Given the description of an element on the screen output the (x, y) to click on. 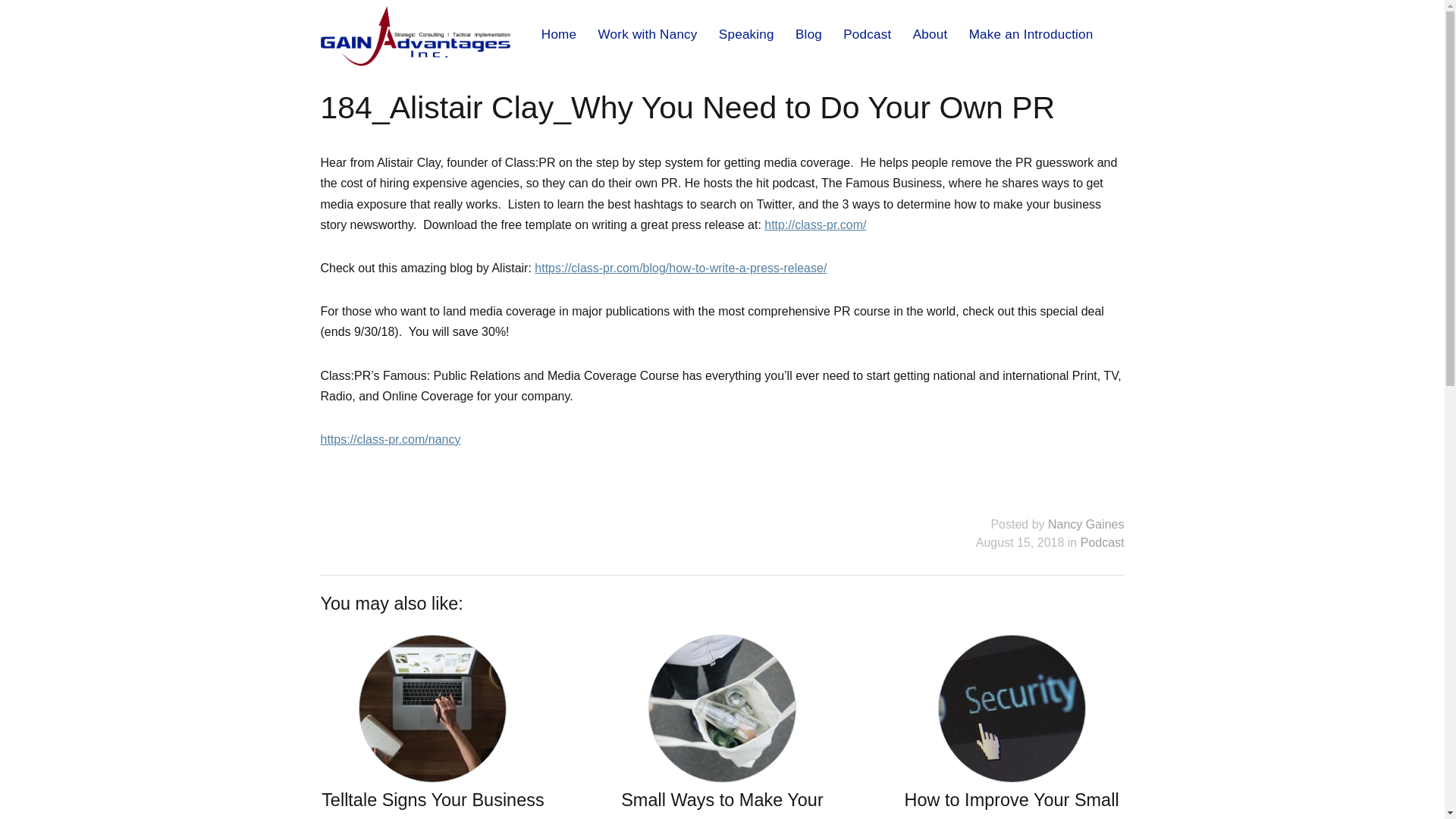
Nancy Gaines (1086, 523)
Small Ways to Make Your Business Eco-Friendly (722, 726)
About (930, 33)
Blog (808, 33)
Telltale Signs Your Business Website Needs a Facelift (432, 726)
Home (559, 33)
Make an Introduction (1031, 33)
Podcast (866, 33)
Podcast (1102, 542)
Work with Nancy (646, 33)
Speaking (746, 33)
